Given the description of an element on the screen output the (x, y) to click on. 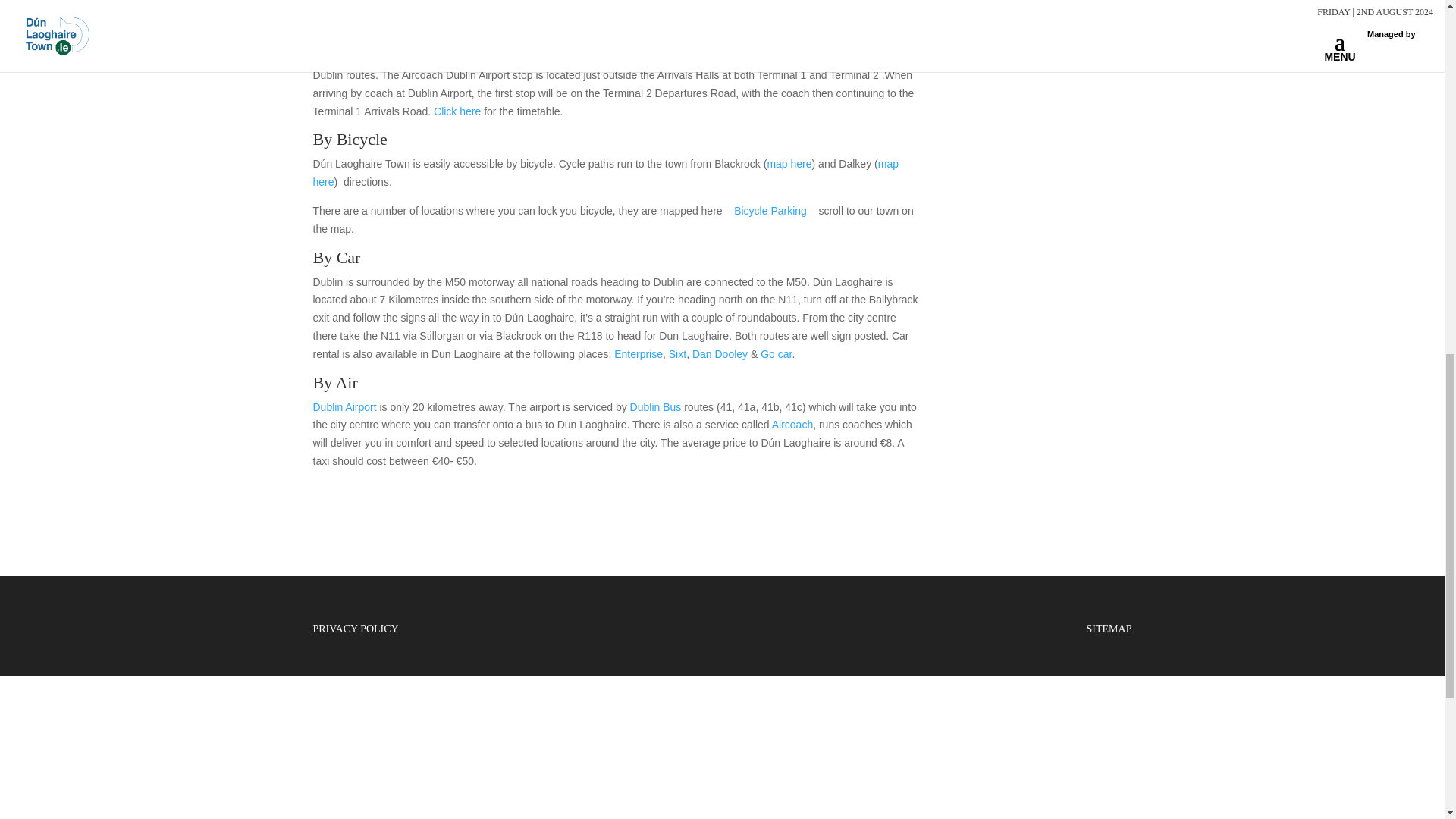
sixt (676, 354)
gocar (776, 354)
dan dooley (720, 354)
www.aircoach.ie (791, 424)
Aircoach (456, 111)
enterprise (638, 354)
www.dublinbus.ie (657, 407)
www.dublinairport.com (344, 407)
